Given the description of an element on the screen output the (x, y) to click on. 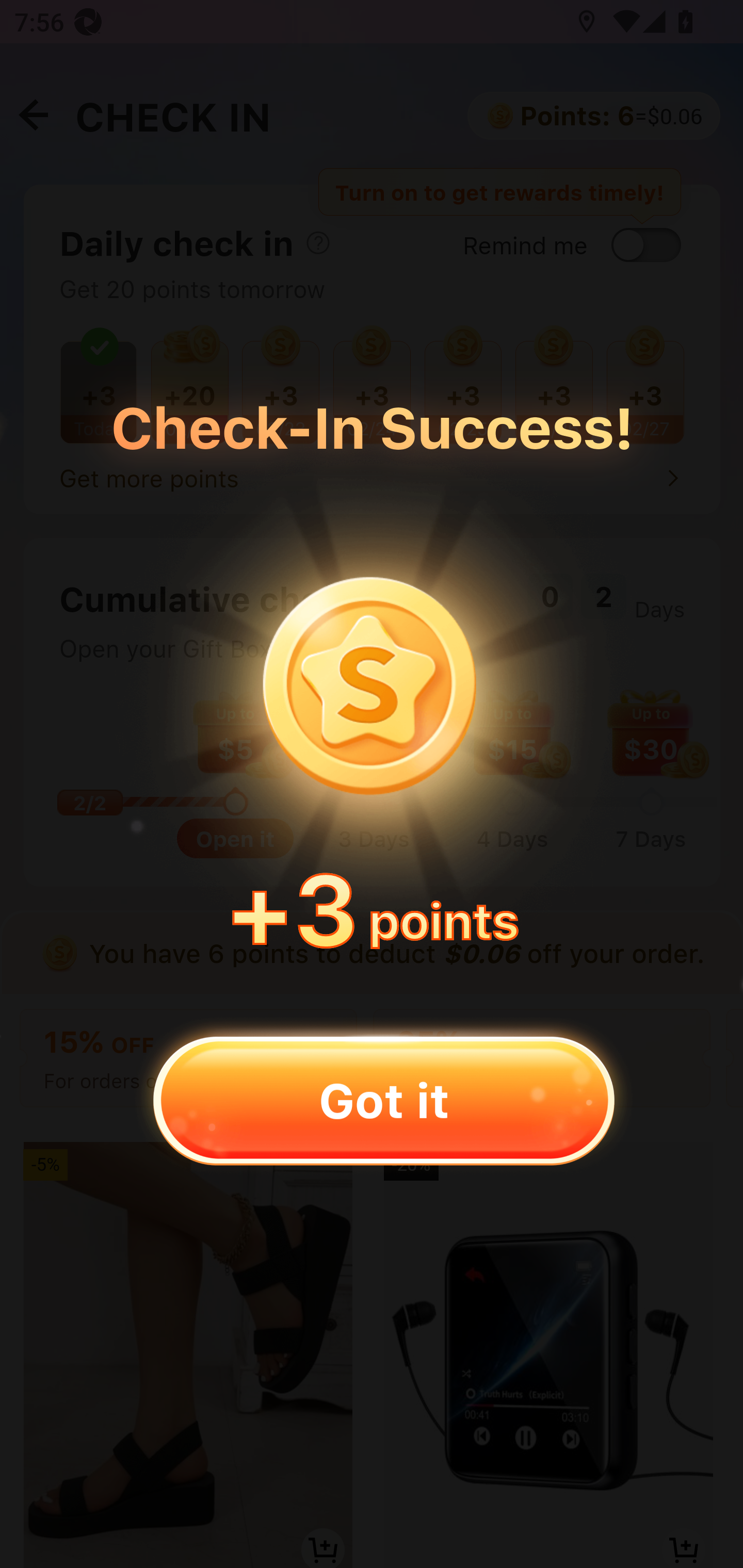
Got it (383, 1099)
